Given the description of an element on the screen output the (x, y) to click on. 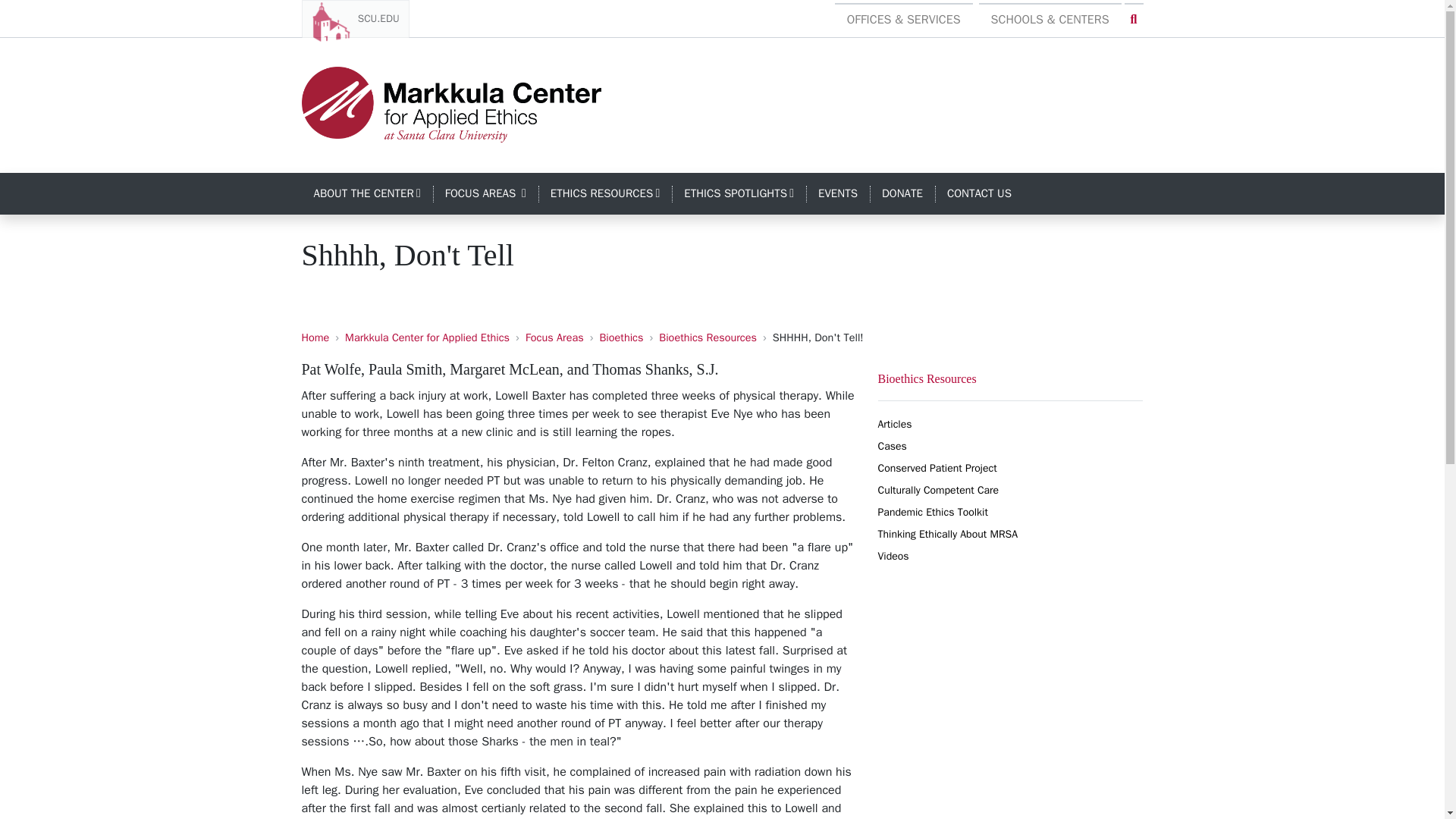
SCU.EDU (485, 193)
